Given the description of an element on the screen output the (x, y) to click on. 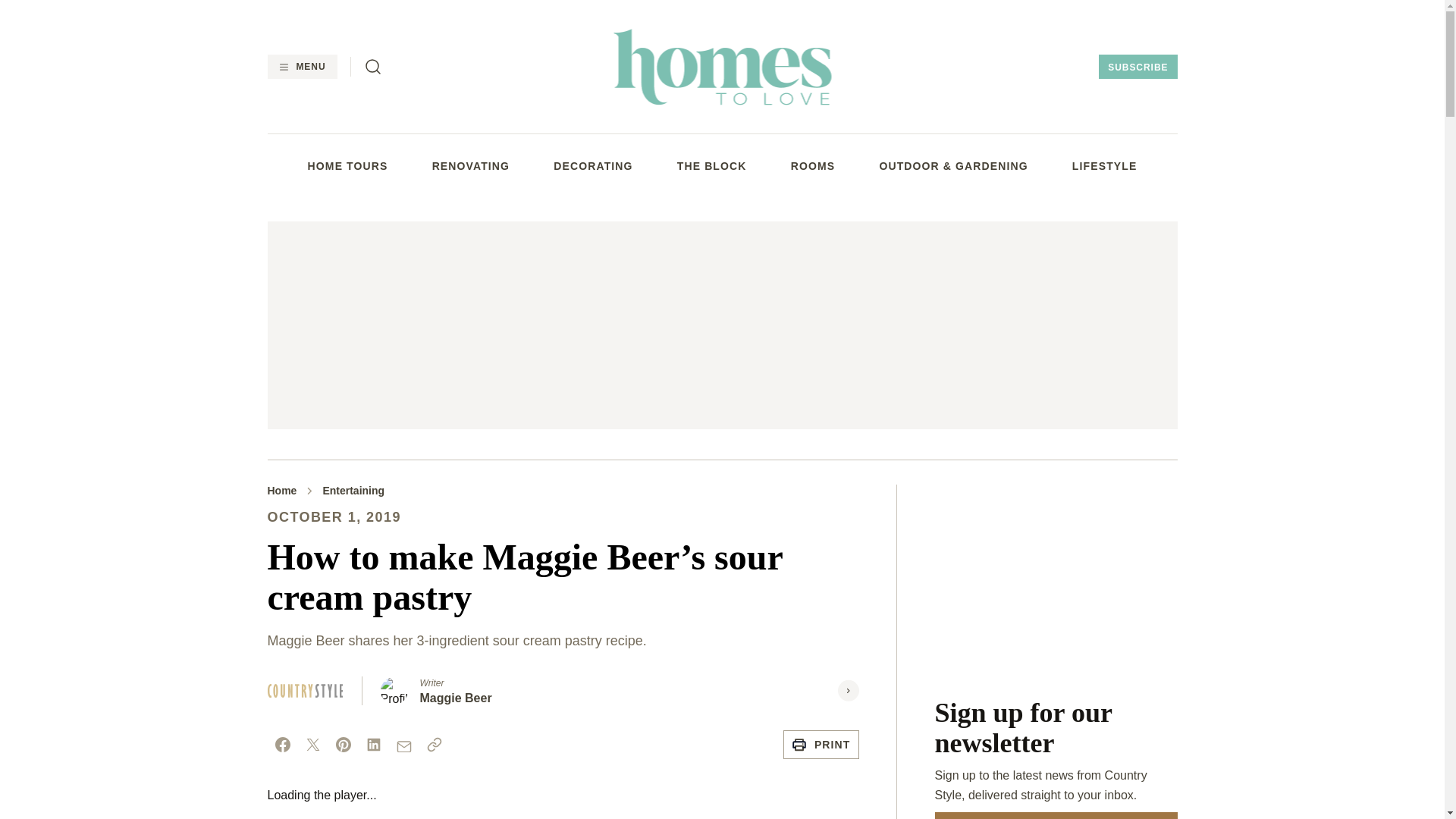
ROOMS (812, 165)
DECORATING (592, 165)
THE BLOCK (711, 165)
LIFESTYLE (1104, 165)
HOME TOURS (347, 165)
SUBSCRIBE (1137, 66)
RENOVATING (470, 165)
MENU (301, 66)
